Given the description of an element on the screen output the (x, y) to click on. 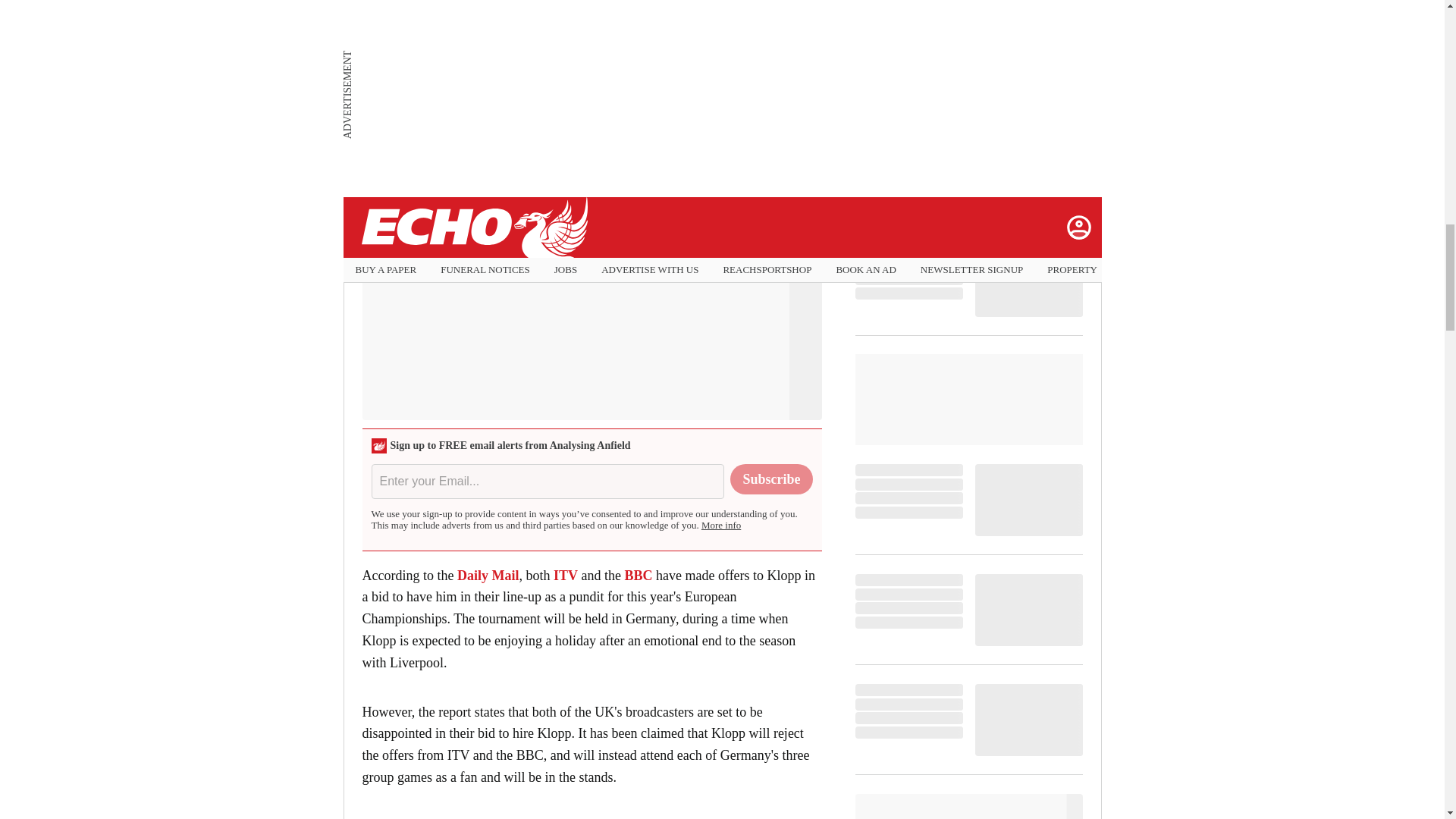
Liverpool will be spending the next few months (574, 4)
Subscribe (771, 479)
Klopp (779, 4)
BBC (638, 575)
Daily Mail (485, 575)
ITV (565, 575)
More info (721, 524)
